Given the description of an element on the screen output the (x, y) to click on. 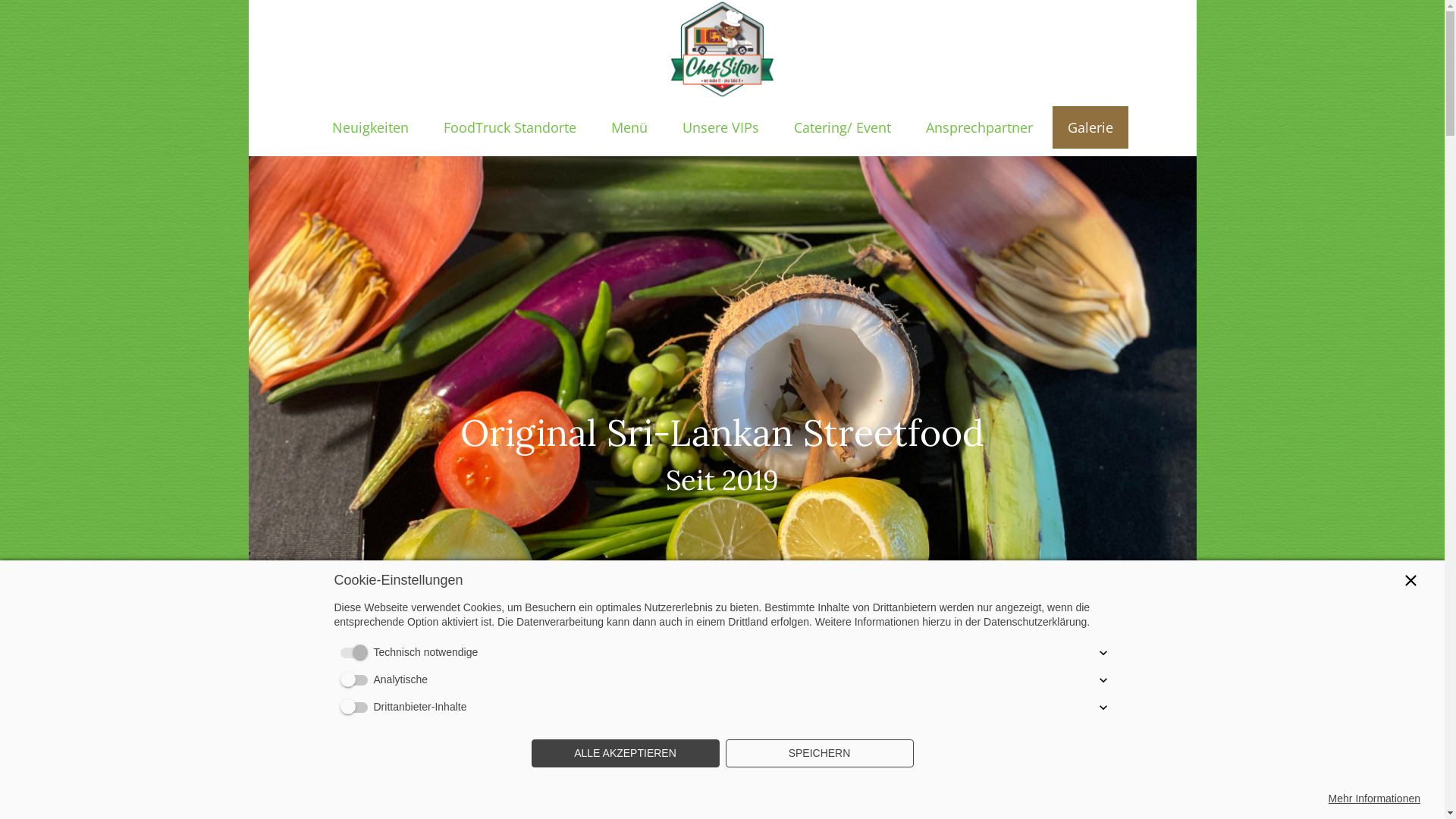
Unsere VIPs Element type: text (720, 127)
ALLE AKZEPTIEREN Element type: text (624, 753)
Ansprechpartner Element type: text (978, 127)
SPEICHERN Element type: text (818, 753)
FoodTruck Standorte Element type: text (508, 127)
Galerie Element type: text (1090, 127)
Mehr Informationen Element type: text (1374, 798)
Neuigkeiten Element type: text (369, 127)
Catering/ Event Element type: text (841, 127)
